Given the description of an element on the screen output the (x, y) to click on. 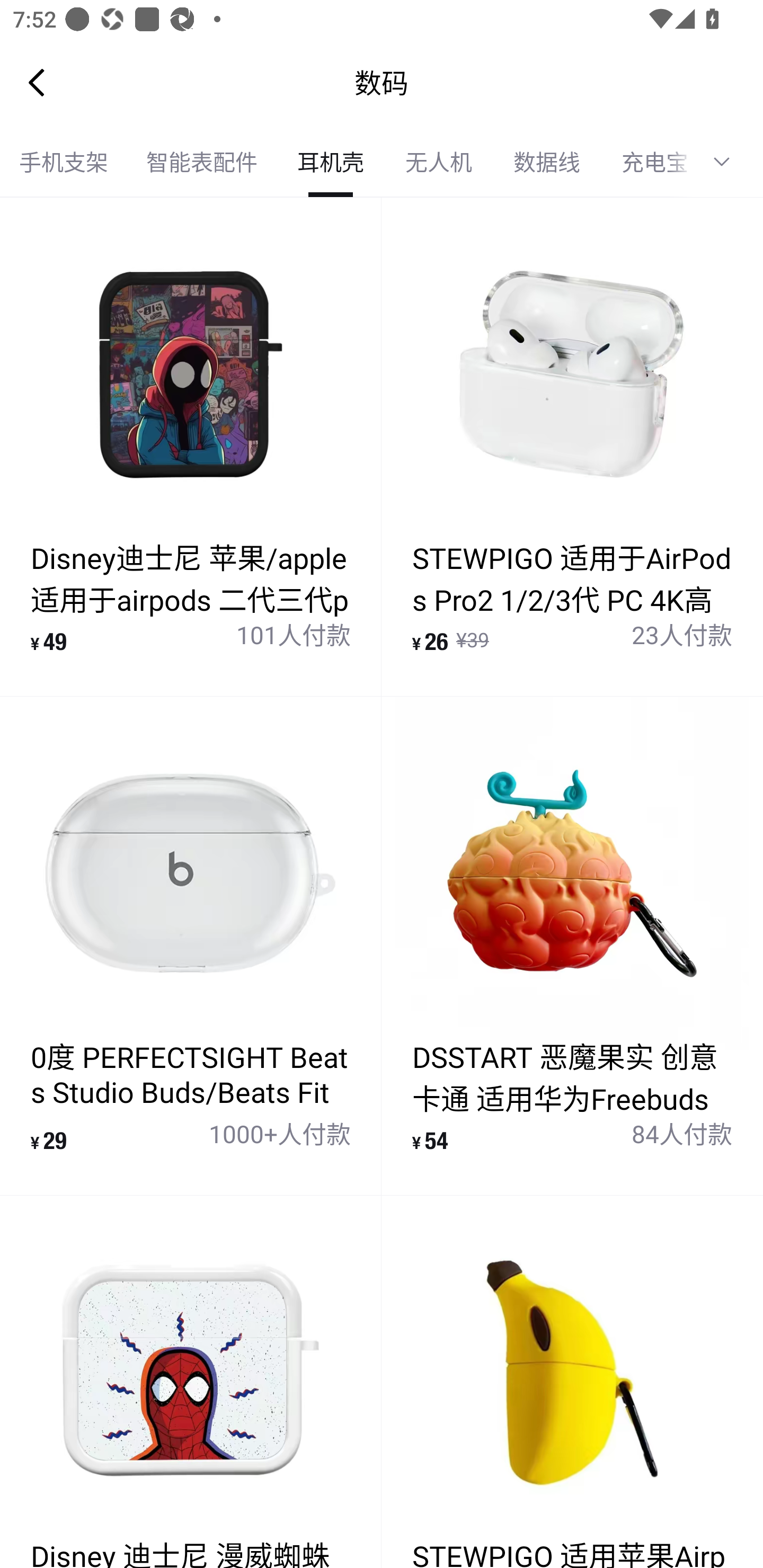
Navigate up (36, 82)
手机支架 (63, 162)
智能表配件 (201, 162)
耳机壳 (330, 162)
无人机 (438, 162)
数据线 (546, 162)
充电宝 (646, 162)
 (727, 162)
